Given the description of an element on the screen output the (x, y) to click on. 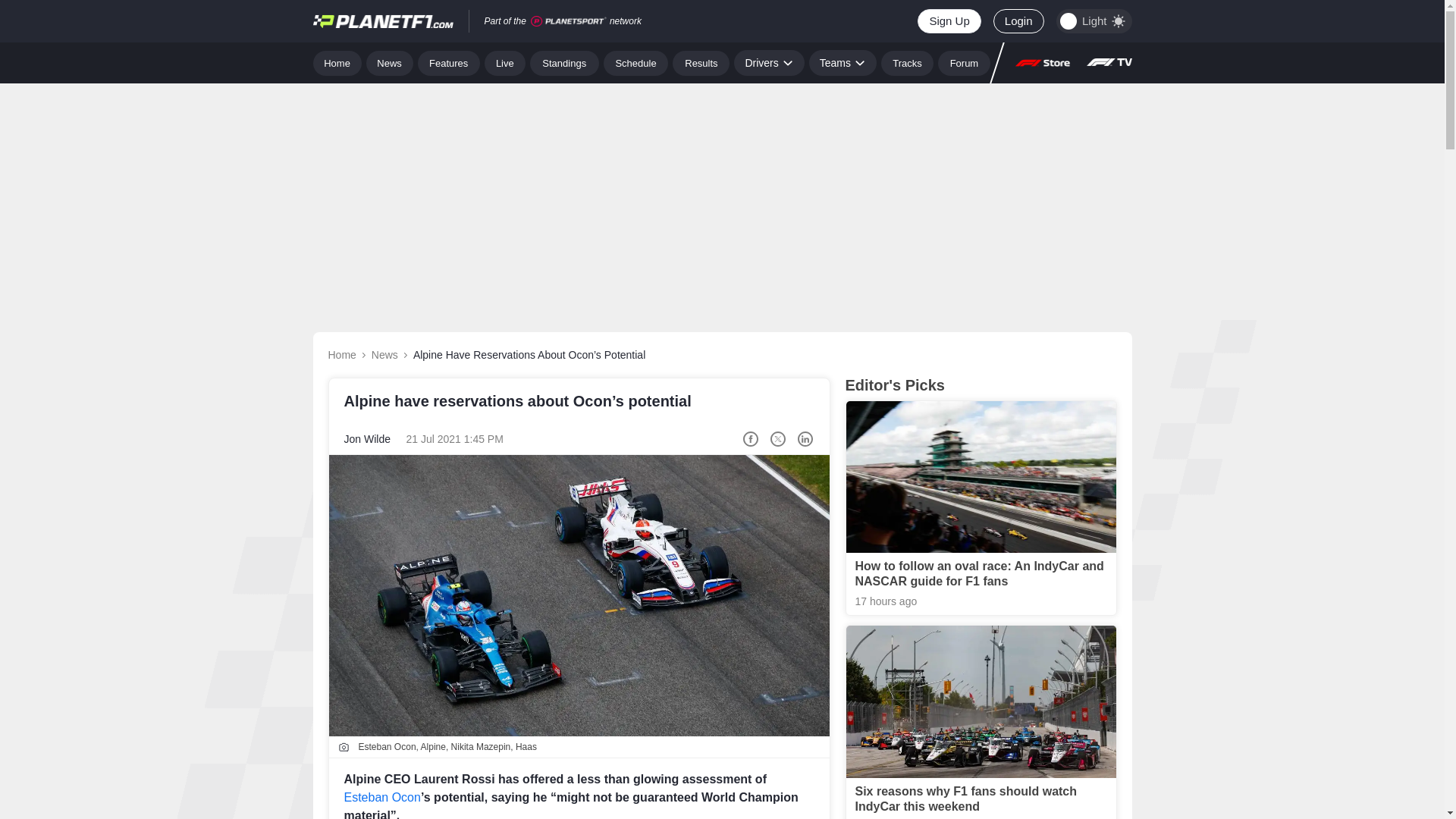
Sign Up (948, 21)
Home (337, 62)
Results (700, 62)
Login (1017, 21)
Standings (563, 62)
Schedule (636, 62)
Drivers (768, 62)
News (389, 62)
Features (448, 62)
Live (504, 62)
